Given the description of an element on the screen output the (x, y) to click on. 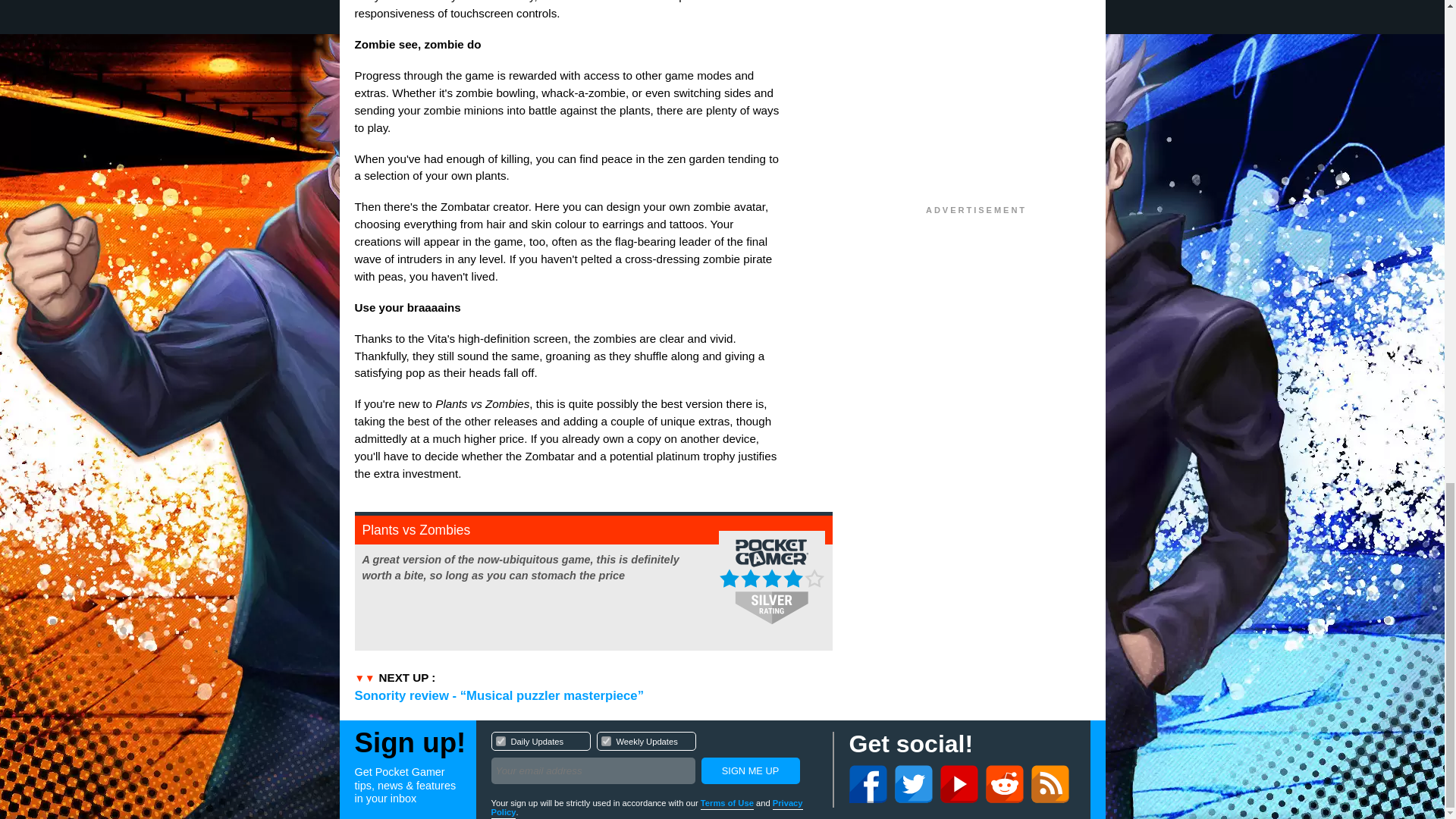
Sign Me Up (749, 770)
1 (500, 741)
2 (654, 759)
